Given the description of an element on the screen output the (x, y) to click on. 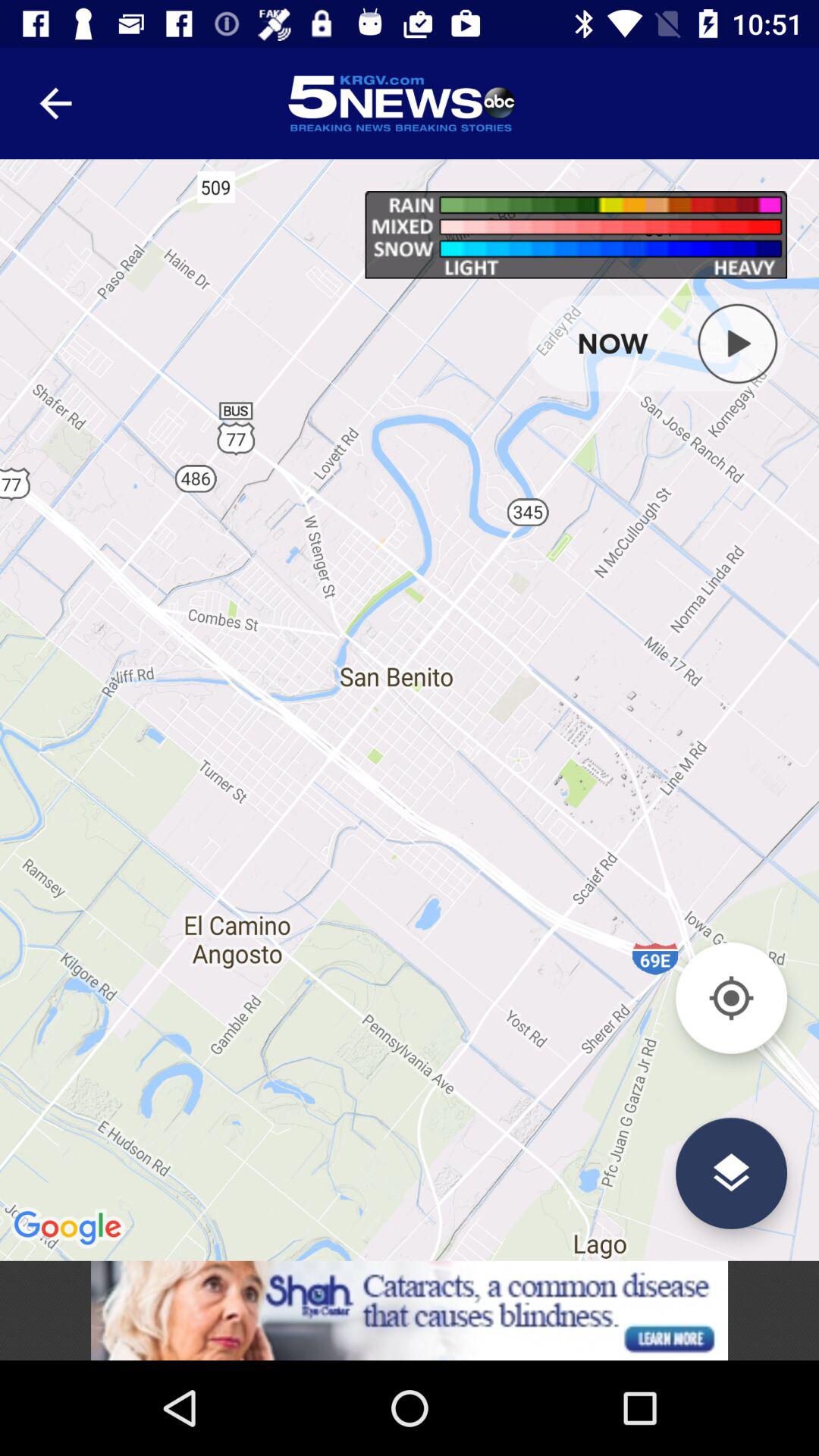
advertisement click (409, 1310)
